Given the description of an element on the screen output the (x, y) to click on. 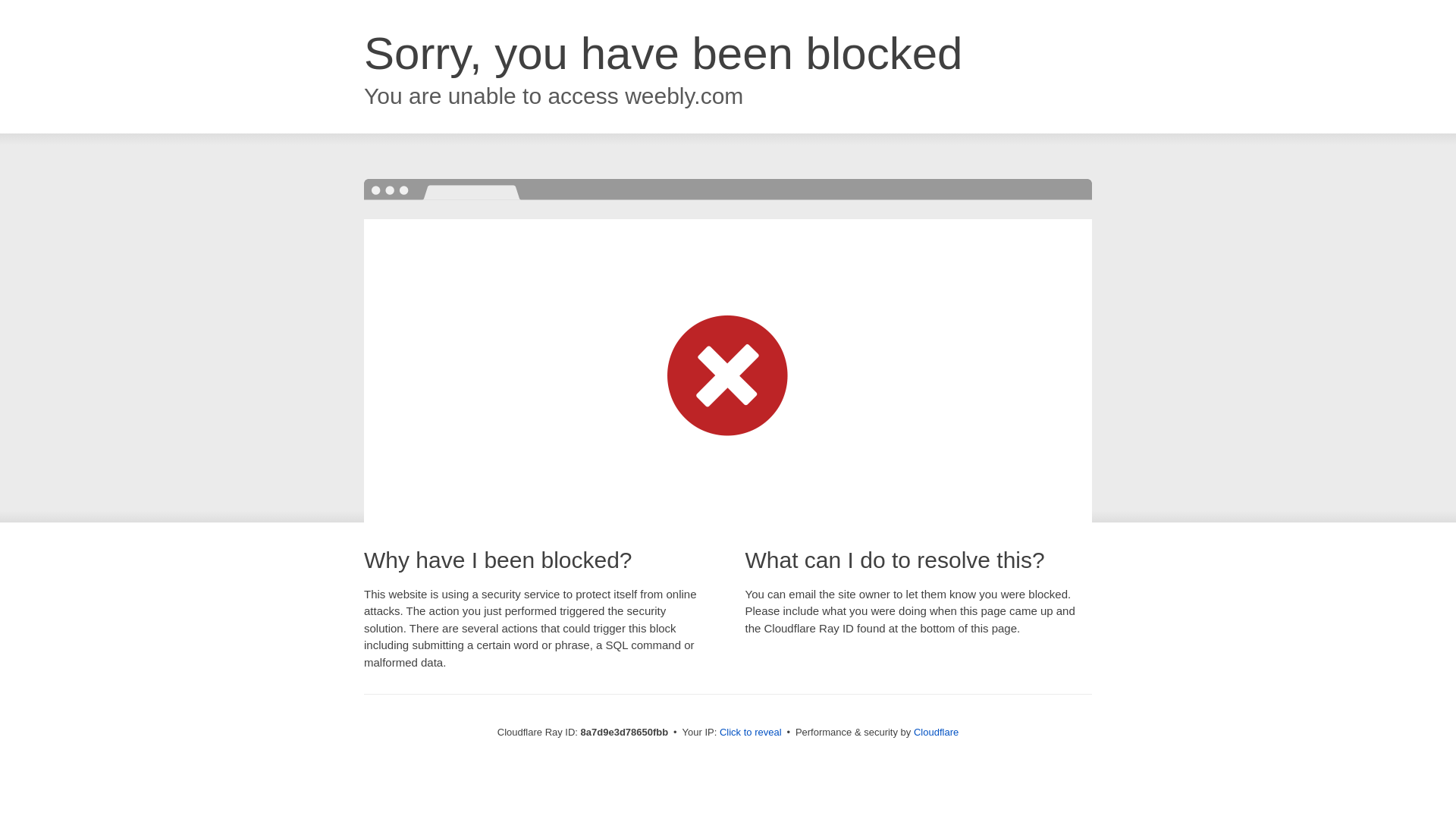
Cloudflare (936, 731)
Click to reveal (750, 732)
